Given the description of an element on the screen output the (x, y) to click on. 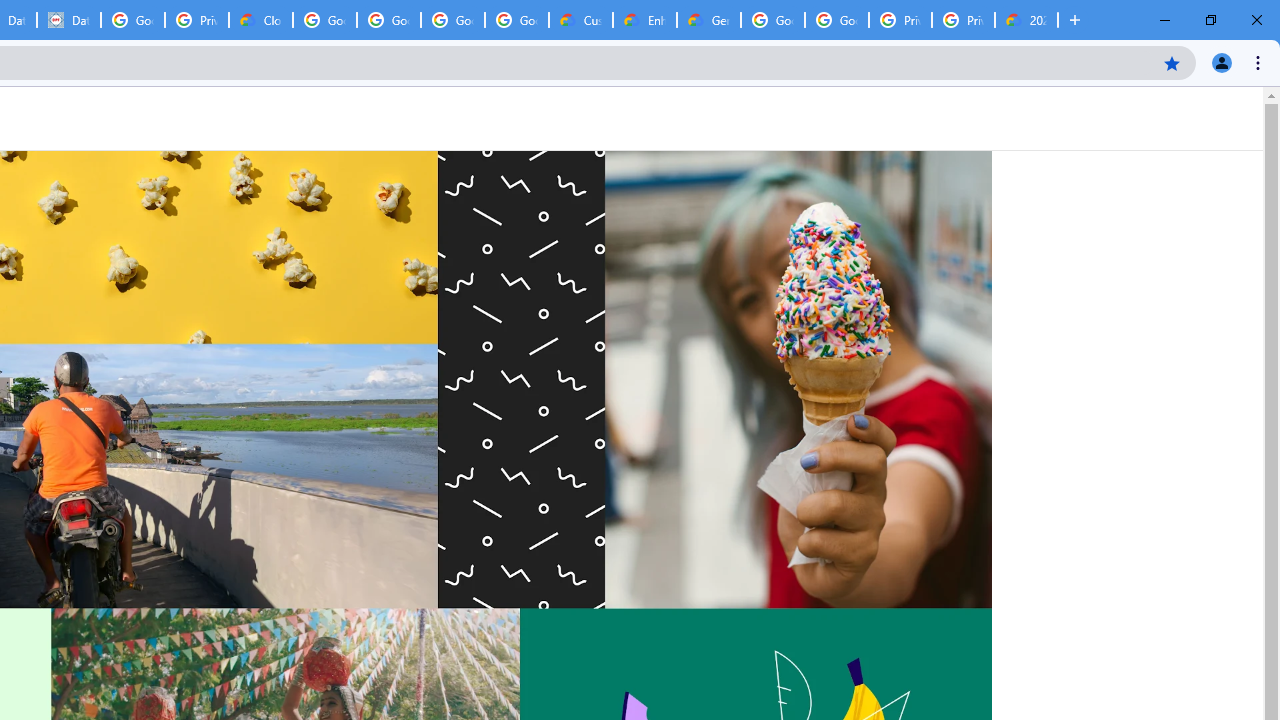
Google Workspace - Specific Terms (453, 20)
Customer Care | Google Cloud (581, 20)
Gemini for Business and Developers | Google Cloud (709, 20)
Google Cloud Platform (773, 20)
Enhanced Support | Google Cloud (645, 20)
